Given the description of an element on the screen output the (x, y) to click on. 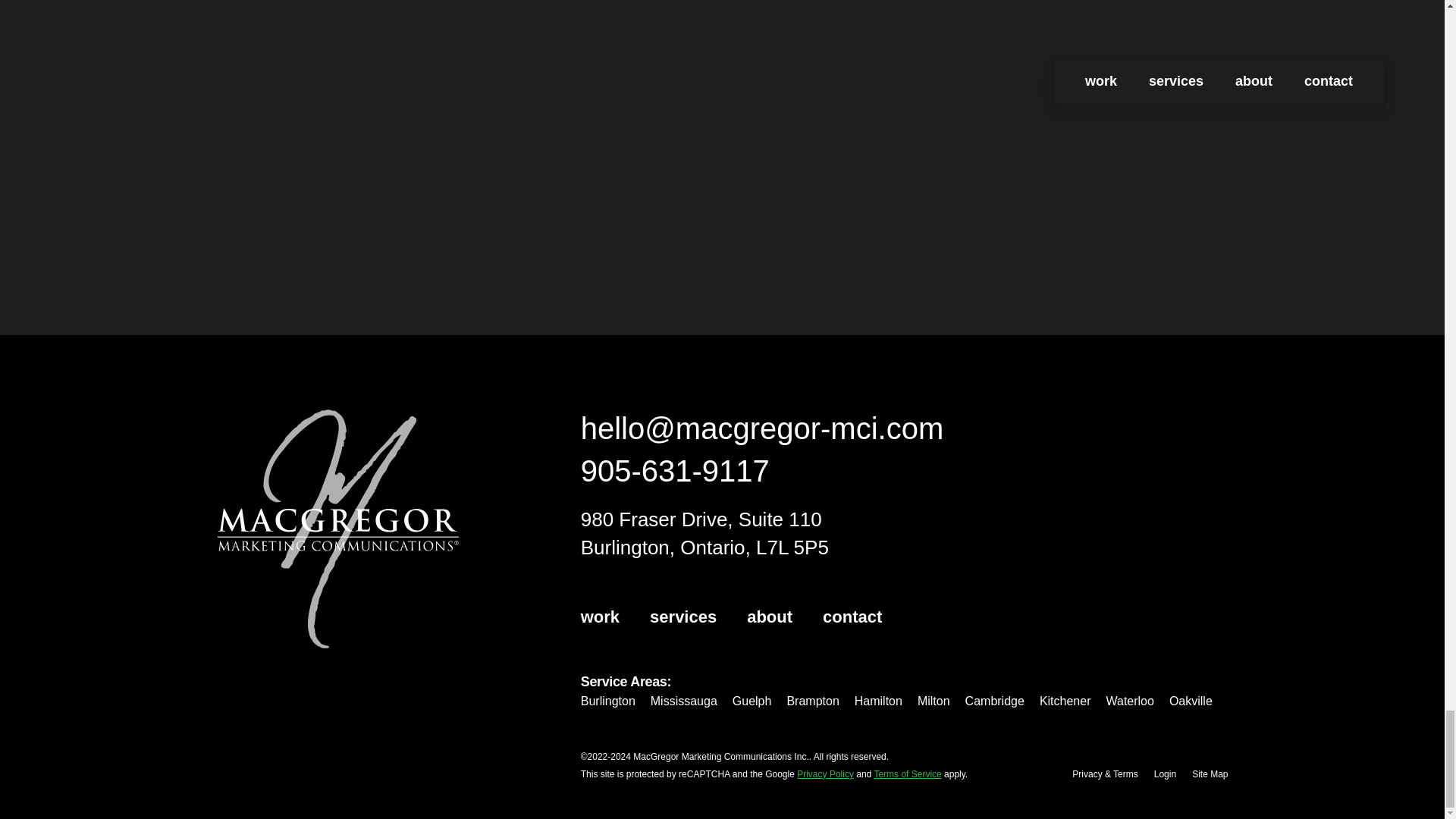
contact (852, 617)
Milton (933, 701)
Waterloo (1129, 701)
work (600, 617)
Brampton (812, 701)
Cambridge (995, 701)
Hamilton (878, 701)
Mississauga (683, 701)
Burlington (607, 701)
services (682, 617)
Guelph (751, 701)
about (769, 617)
905-631-9117 (675, 470)
Kitchener (1064, 701)
